Given the description of an element on the screen output the (x, y) to click on. 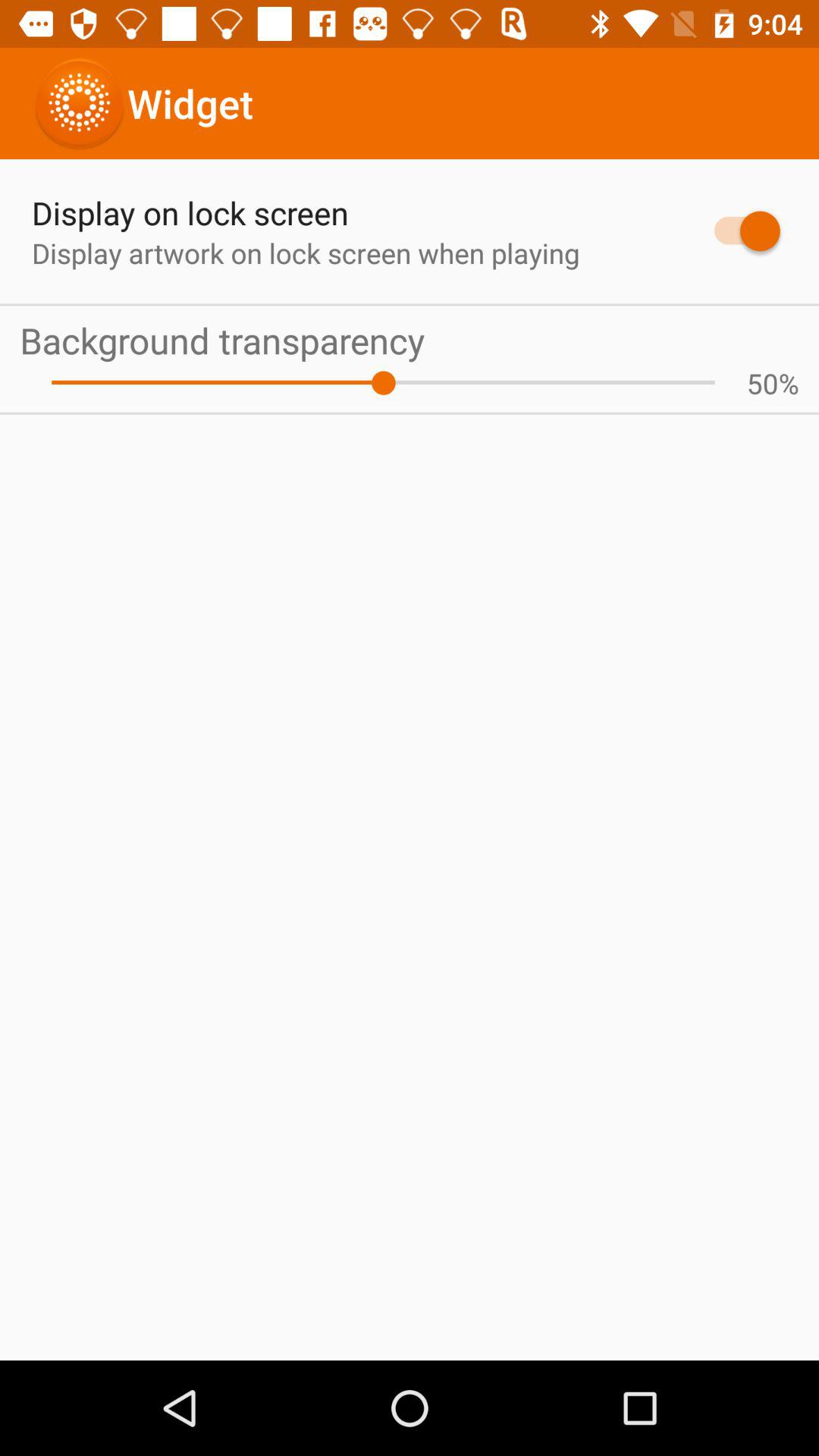
click icon to the left of the % app (762, 383)
